Given the description of an element on the screen output the (x, y) to click on. 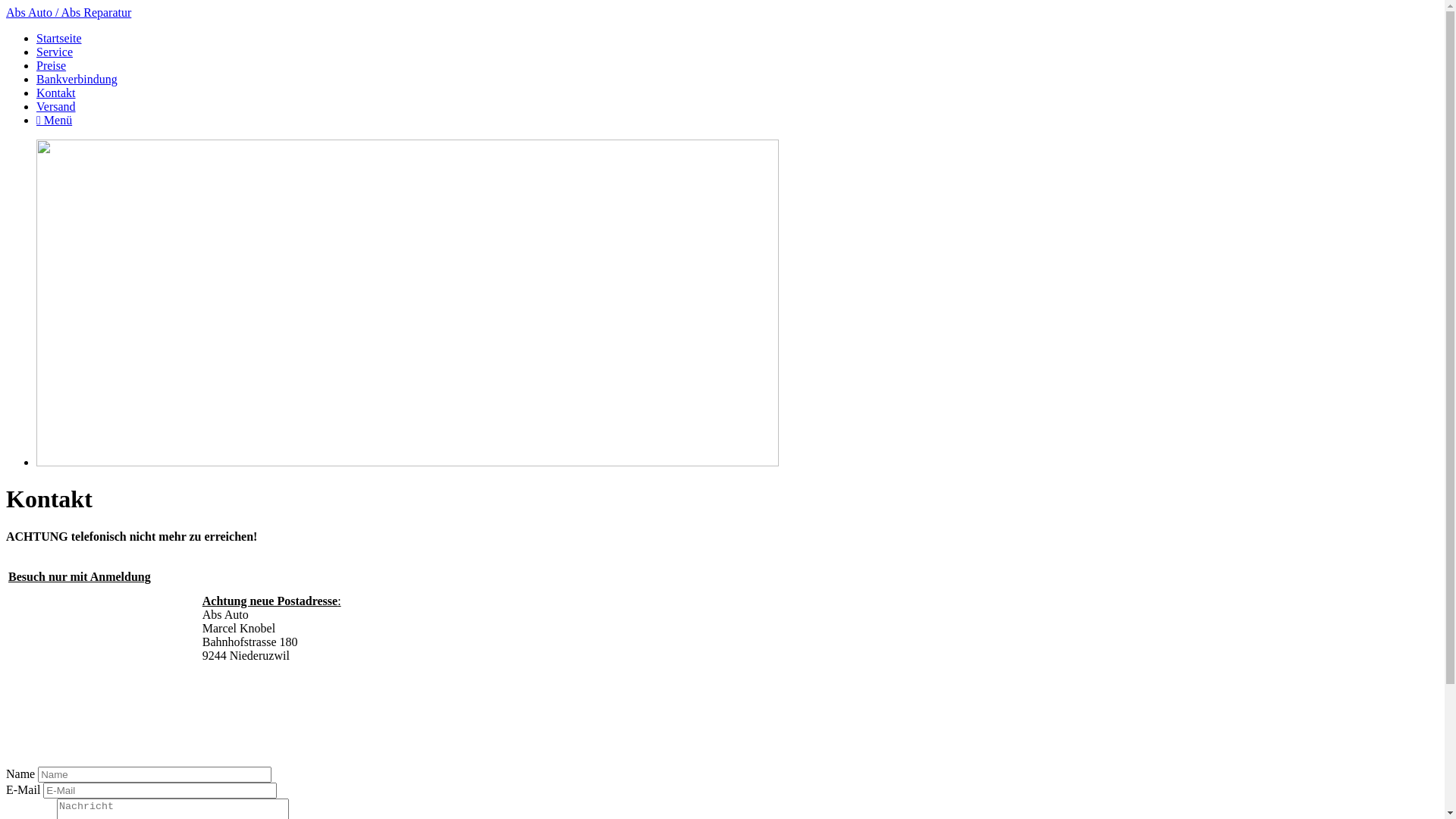
Service Element type: text (54, 51)
Kontakt Element type: text (55, 92)
Startseite Element type: text (58, 37)
Abs Auto / Abs Reparatur Element type: text (68, 12)
Preise Element type: text (50, 65)
Bankverbindung Element type: text (76, 78)
Versand Element type: text (55, 106)
